Given the description of an element on the screen output the (x, y) to click on. 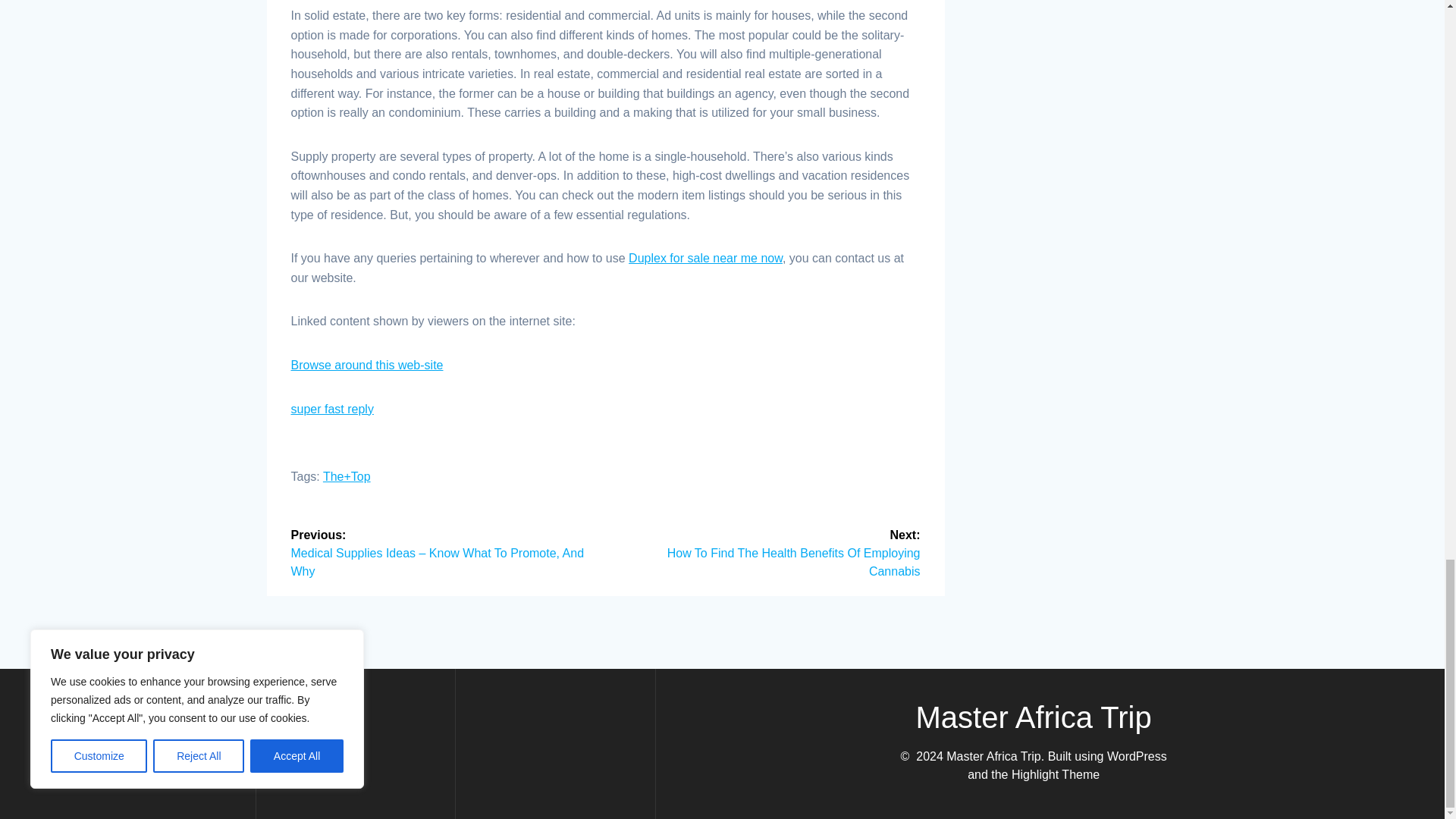
super fast reply (332, 408)
Duplex for sale near me now (705, 257)
Browse around this web-site (367, 364)
